Given the description of an element on the screen output the (x, y) to click on. 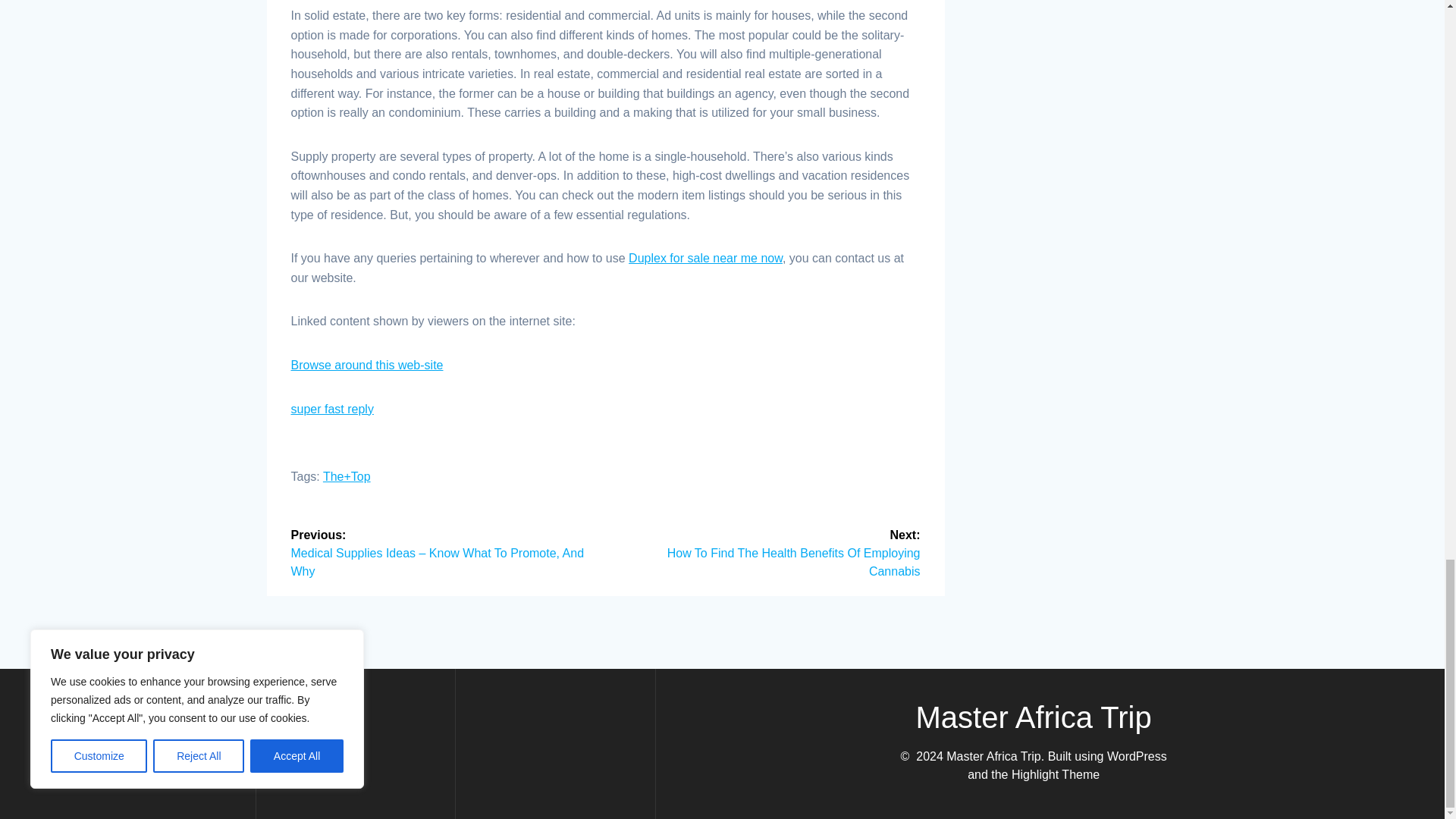
super fast reply (332, 408)
Duplex for sale near me now (705, 257)
Browse around this web-site (367, 364)
